Given the description of an element on the screen output the (x, y) to click on. 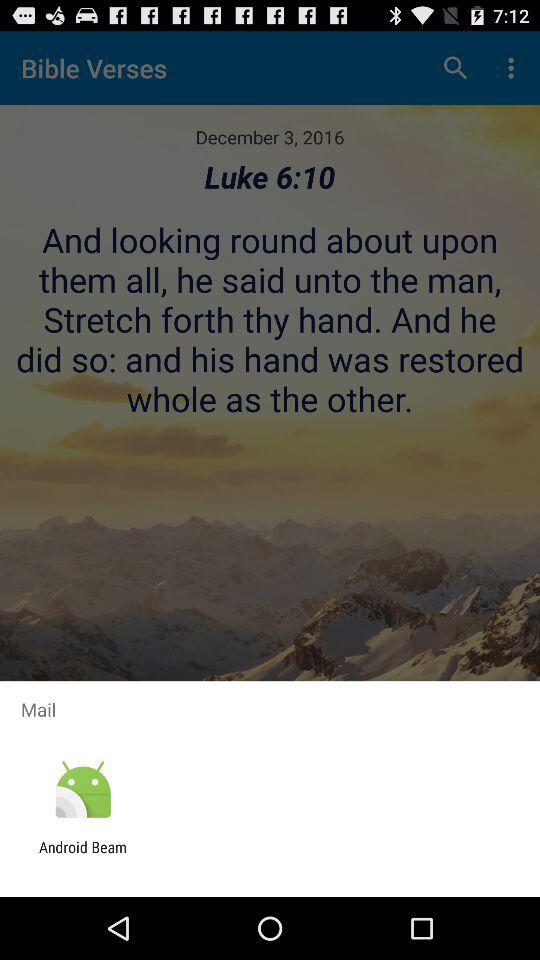
turn on the item below the mail icon (82, 789)
